Given the description of an element on the screen output the (x, y) to click on. 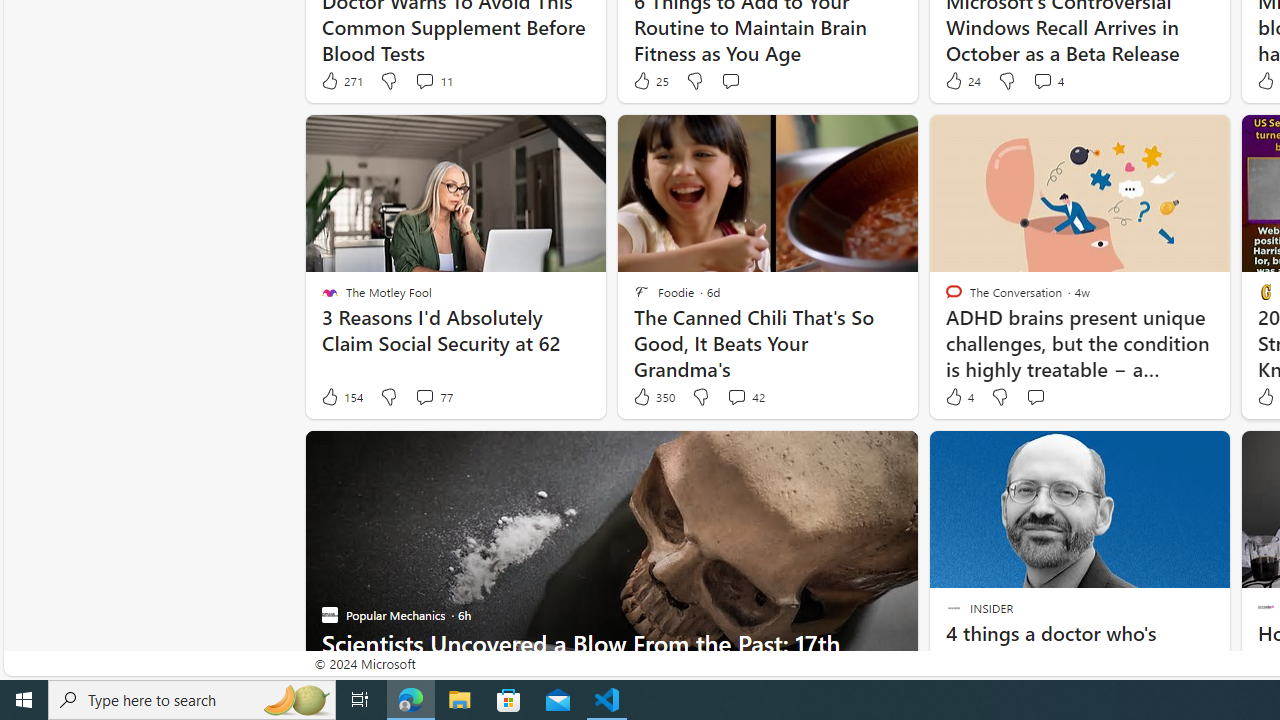
View comments 77 Comment (432, 397)
View comments 11 Comment (432, 80)
271 Like (341, 80)
154 Like (341, 397)
View comments 4 Comment (1048, 80)
View comments 77 Comment (424, 396)
View comments 42 Comment (736, 396)
Hide this story (1169, 454)
View comments 42 Comment (745, 397)
350 Like (653, 397)
View comments 11 Comment (424, 80)
4 Like (957, 397)
